Given the description of an element on the screen output the (x, y) to click on. 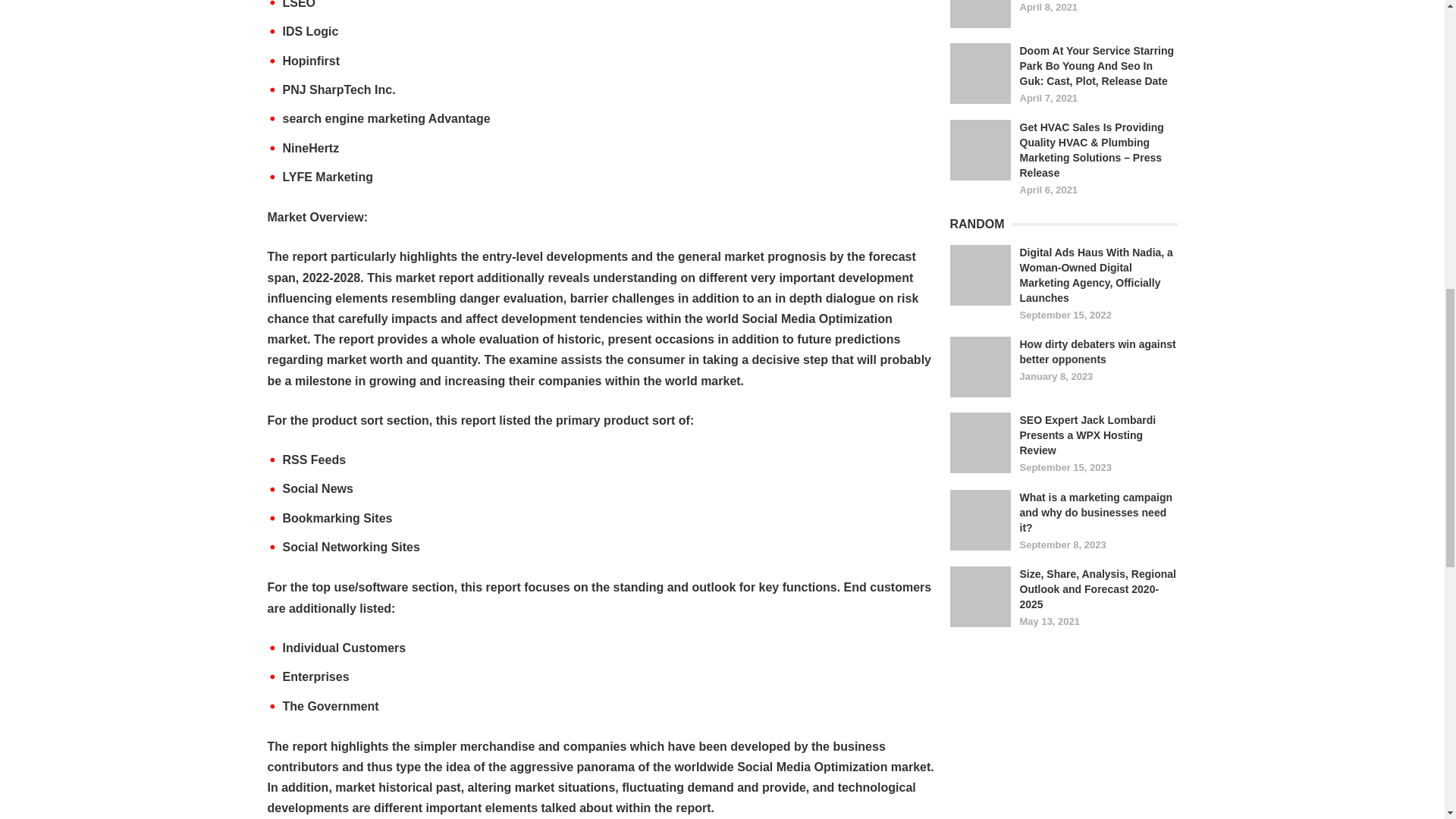
How dirty debaters win against better opponents (979, 366)
Best Social Media Marketing Tips to Implement Now (979, 13)
